Given the description of an element on the screen output the (x, y) to click on. 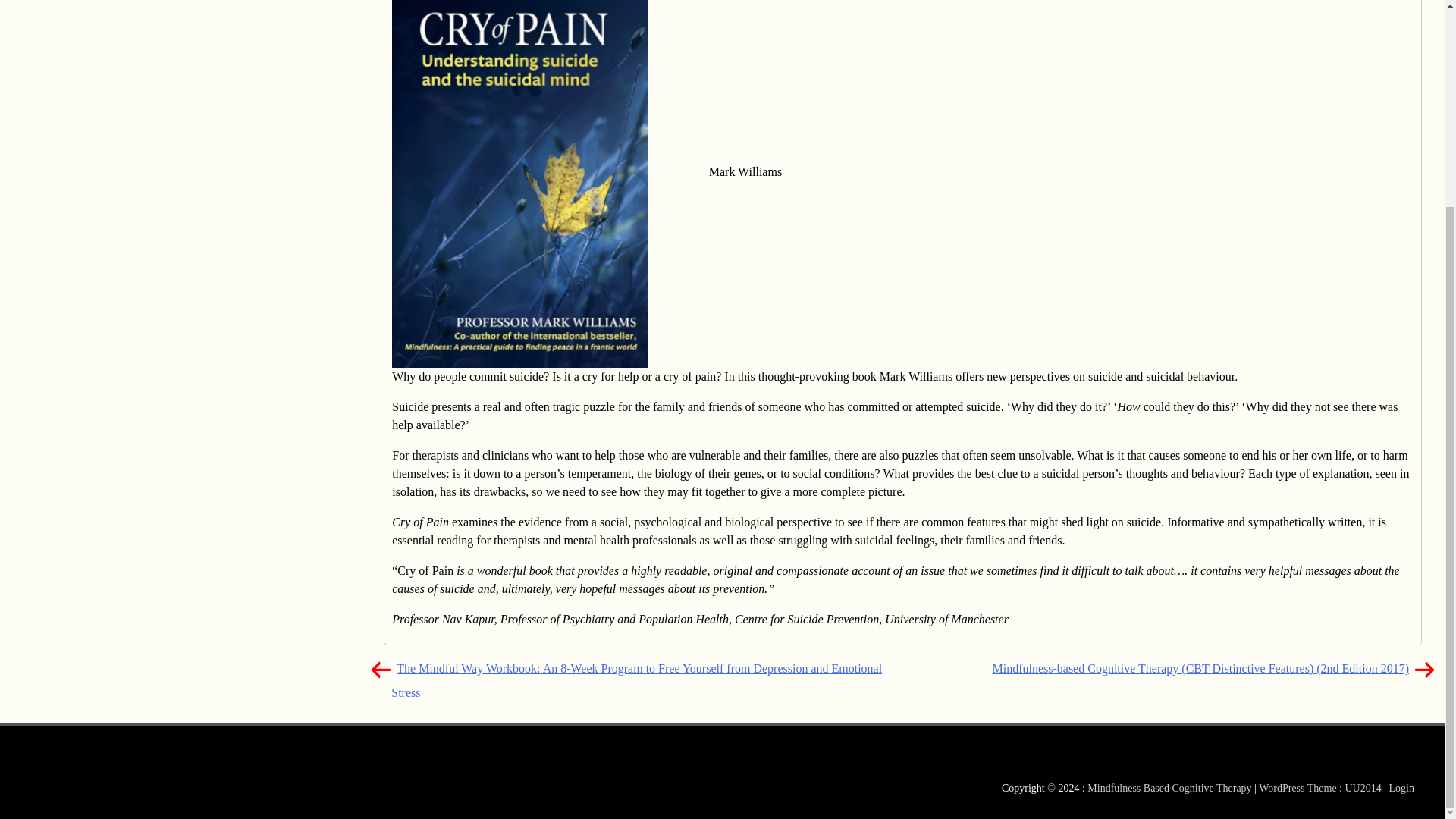
Mindfulness Based Cognitive Therapy (132, 4)
Login (1401, 787)
Mindfulness Based Cognitive Therapy (132, 4)
